Given the description of an element on the screen output the (x, y) to click on. 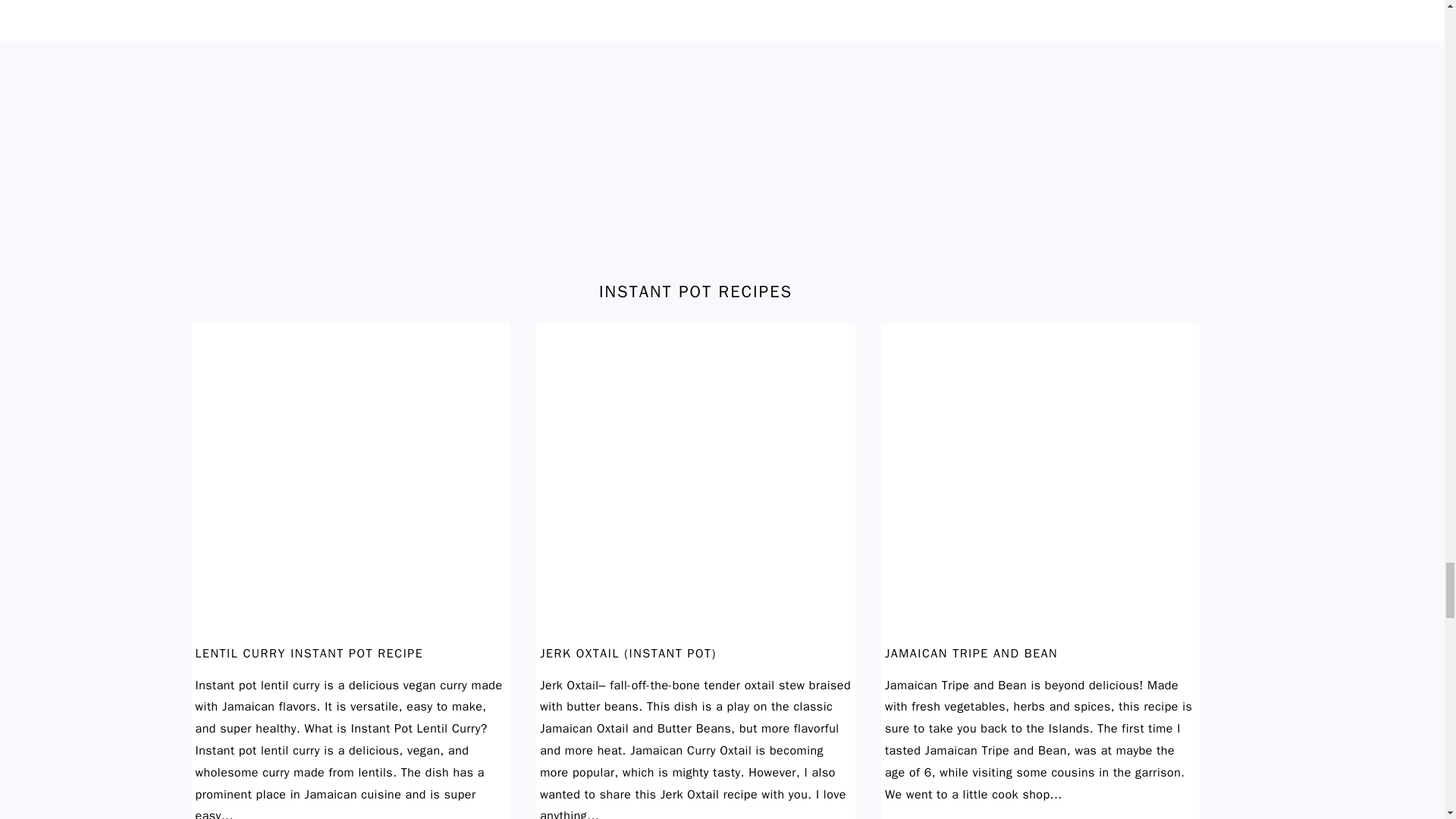
Jamaican Tripe and Bean (1040, 634)
Lentil Curry Instant Pot Recipe (350, 634)
